Given the description of an element on the screen output the (x, y) to click on. 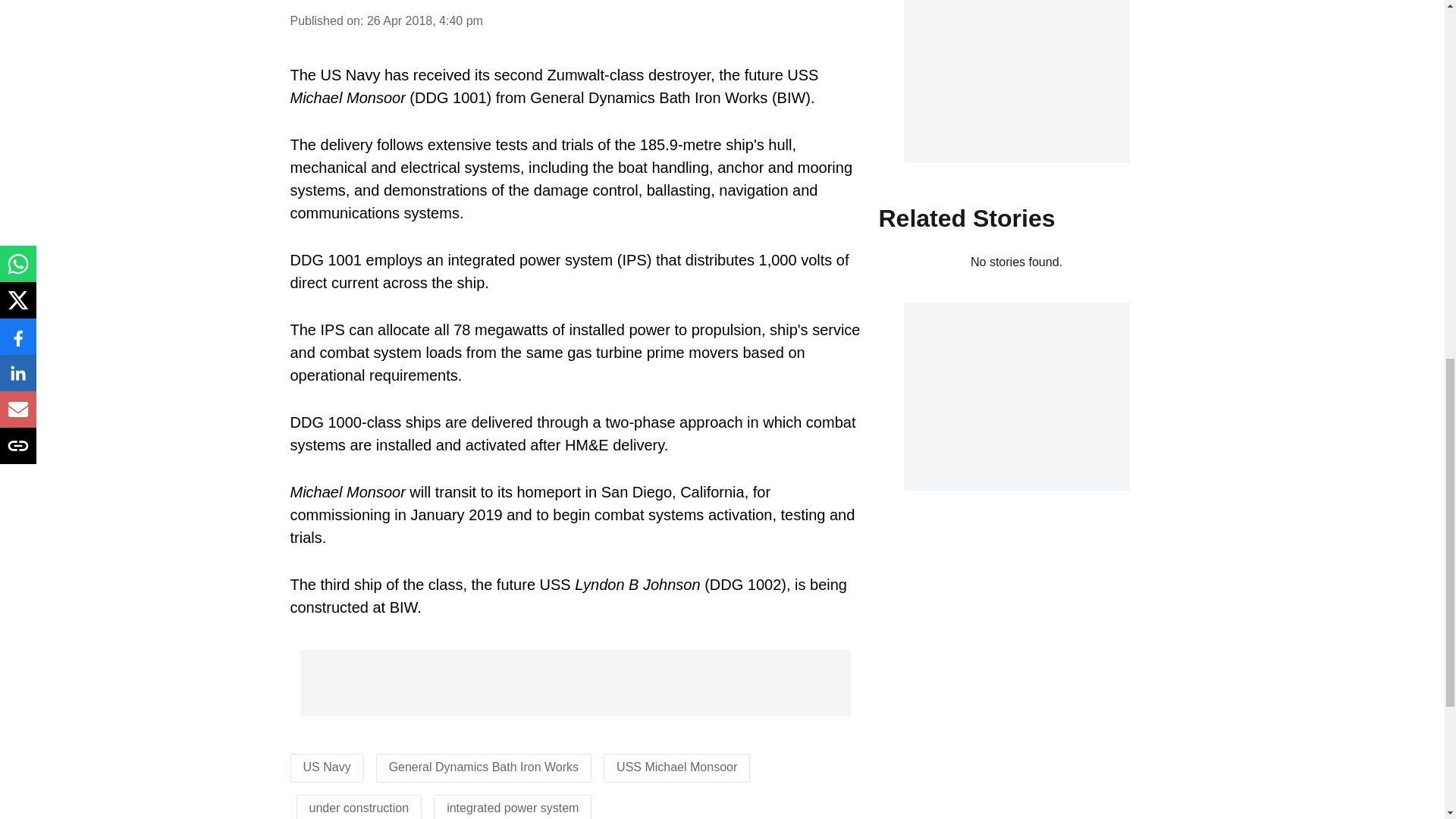
under construction (358, 807)
General Dynamics Bath Iron Works (483, 766)
2018-04-26 08:40 (424, 20)
US Navy (326, 766)
USS Michael Monsoor (675, 766)
integrated power system (512, 807)
